Given the description of an element on the screen output the (x, y) to click on. 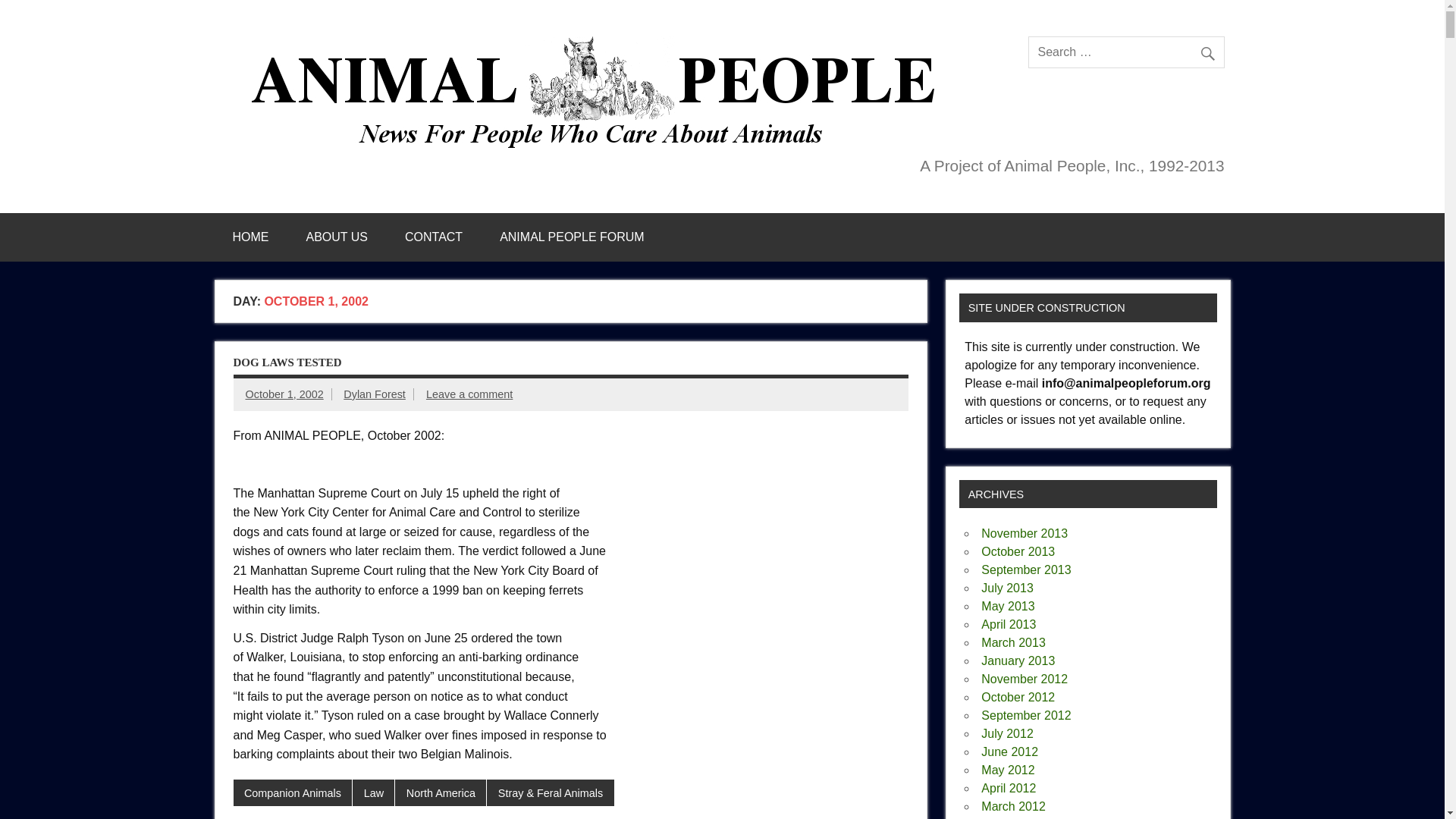
Leave a comment (469, 394)
North America (440, 792)
ABOUT US (337, 236)
Companion Animals (292, 792)
Law (373, 792)
HOME (250, 236)
ANIMAL PEOPLE FORUM (571, 236)
7:12 pm (284, 394)
DOG LAWS TESTED (287, 362)
View all posts by Dylan Forest (374, 394)
October 1, 2002 (284, 394)
Dylan Forest (374, 394)
CONTACT (433, 236)
ANIMAL PEOPLE NEWS (598, 42)
